Given the description of an element on the screen output the (x, y) to click on. 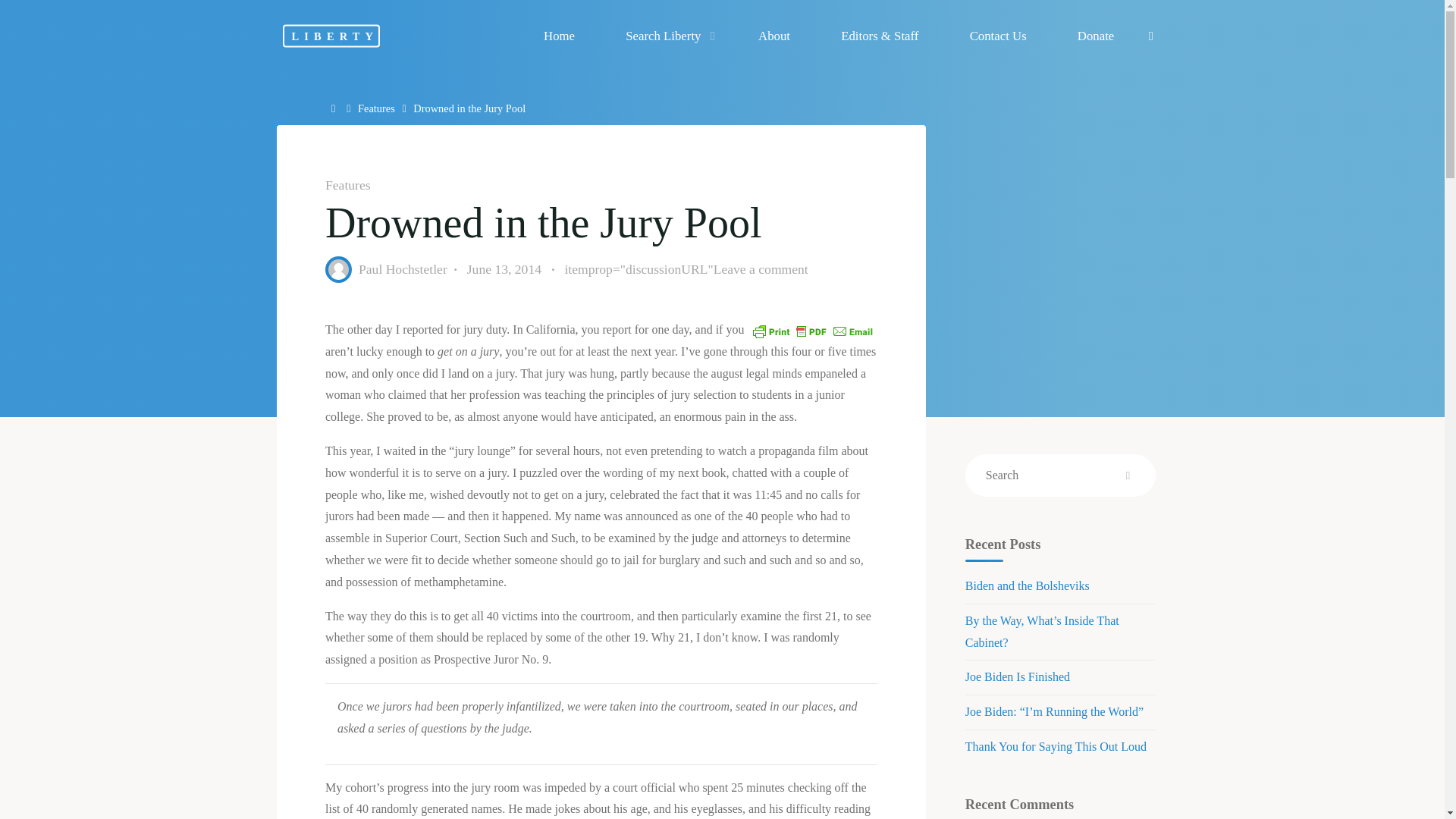
Leave a comment (760, 268)
Search (1150, 35)
About (773, 35)
Features (376, 108)
Features (346, 184)
Donate (1095, 35)
Jump to comments (686, 269)
Contact Us (997, 35)
Home (334, 108)
LIBERTY (331, 35)
Home (558, 35)
Search Liberty (666, 35)
View all posts by Paul Hochstetler (402, 268)
Home (334, 108)
Paul Hochstetler (402, 268)
